Given the description of an element on the screen output the (x, y) to click on. 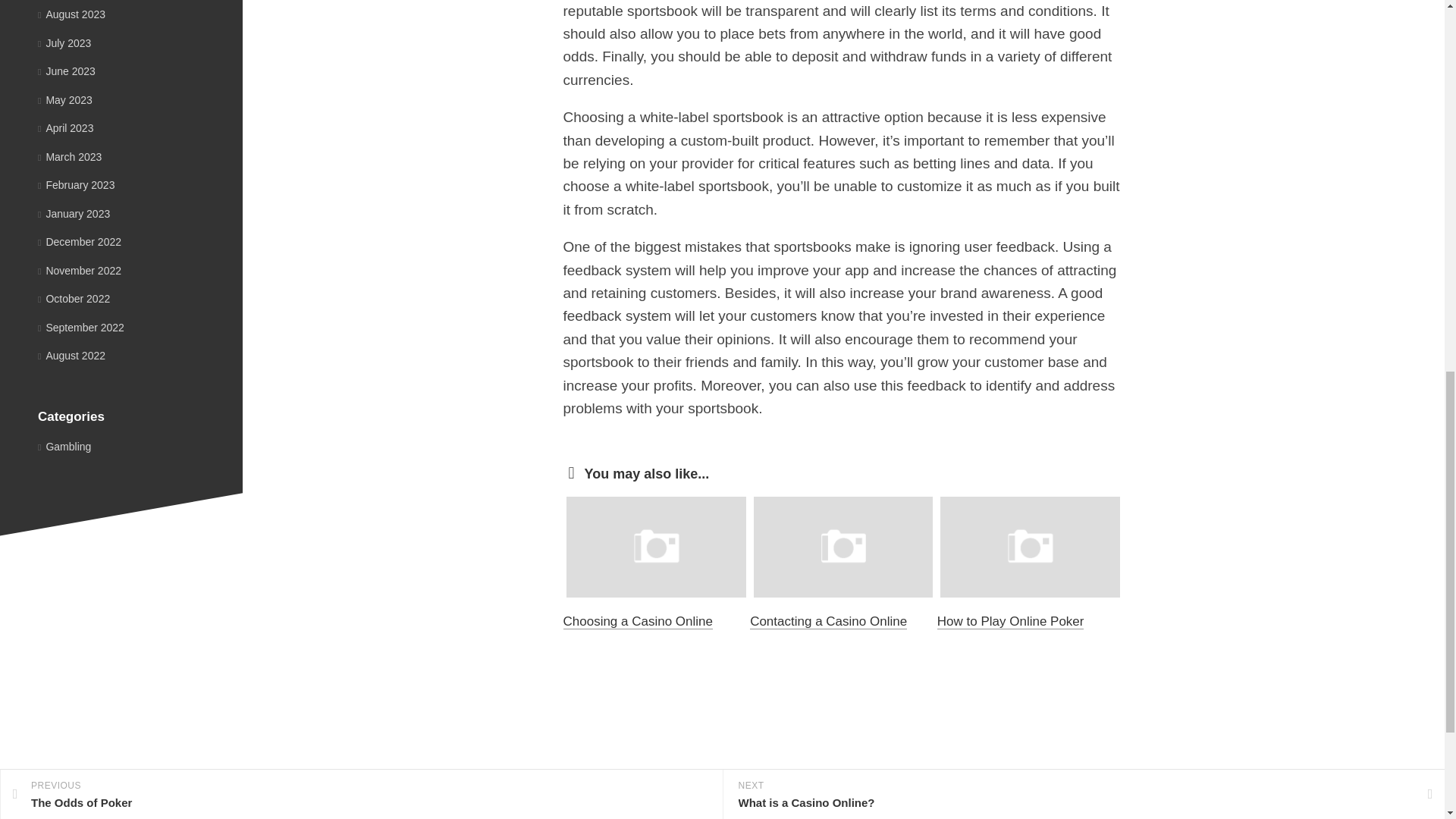
December 2022 (78, 241)
May 2023 (65, 100)
February 2023 (76, 184)
August 2023 (70, 14)
January 2023 (73, 214)
June 2023 (66, 70)
November 2022 (78, 269)
July 2023 (63, 42)
Choosing a Casino Online (637, 621)
April 2023 (65, 128)
